Given the description of an element on the screen output the (x, y) to click on. 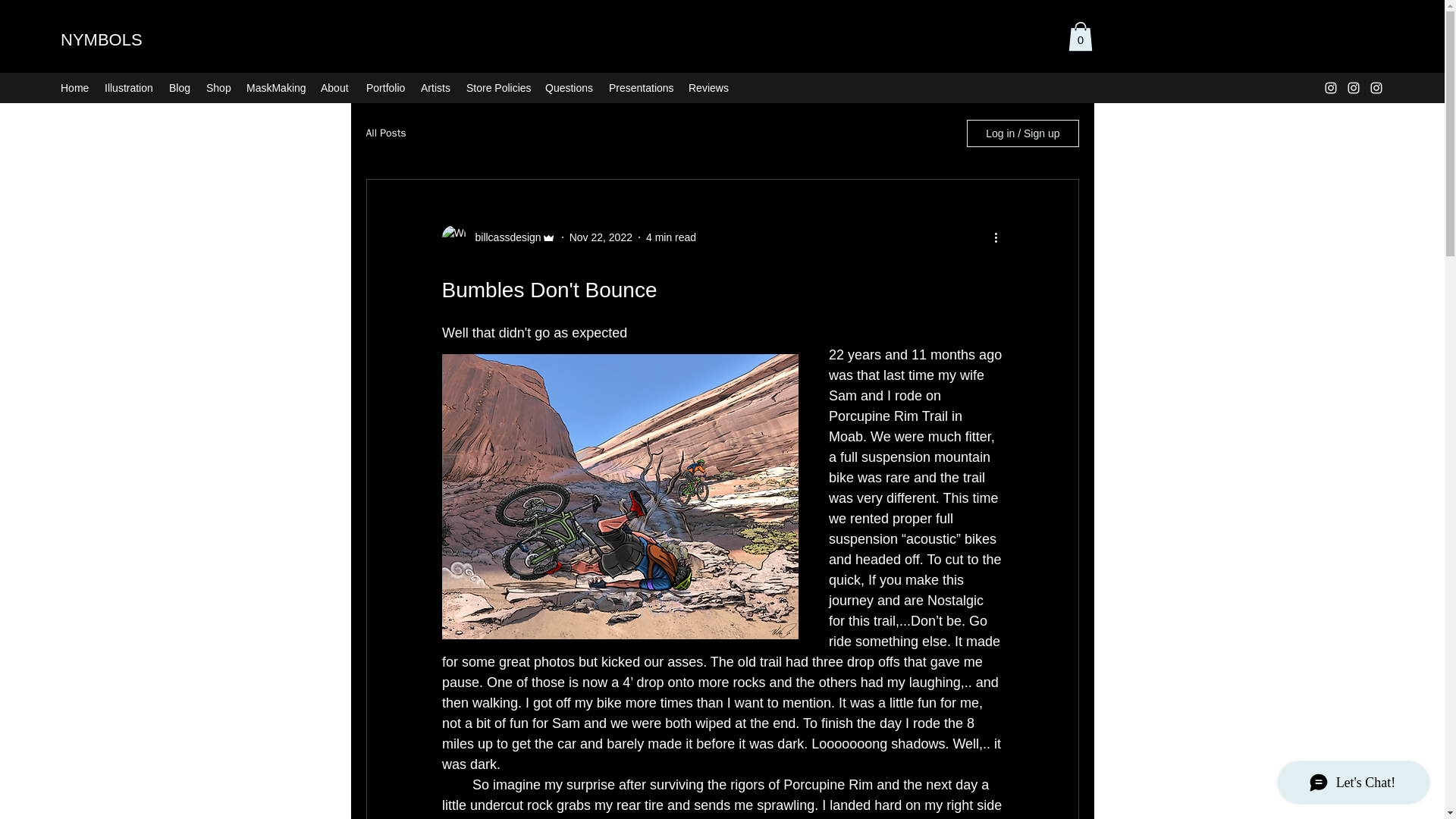
Reviews (707, 87)
Presentations (641, 87)
Illustration (129, 87)
Nov 22, 2022 (600, 236)
Portfolio (385, 87)
4 min read (670, 236)
About (335, 87)
Store Policies (497, 87)
Shop (218, 87)
Blog (179, 87)
